Given the description of an element on the screen output the (x, y) to click on. 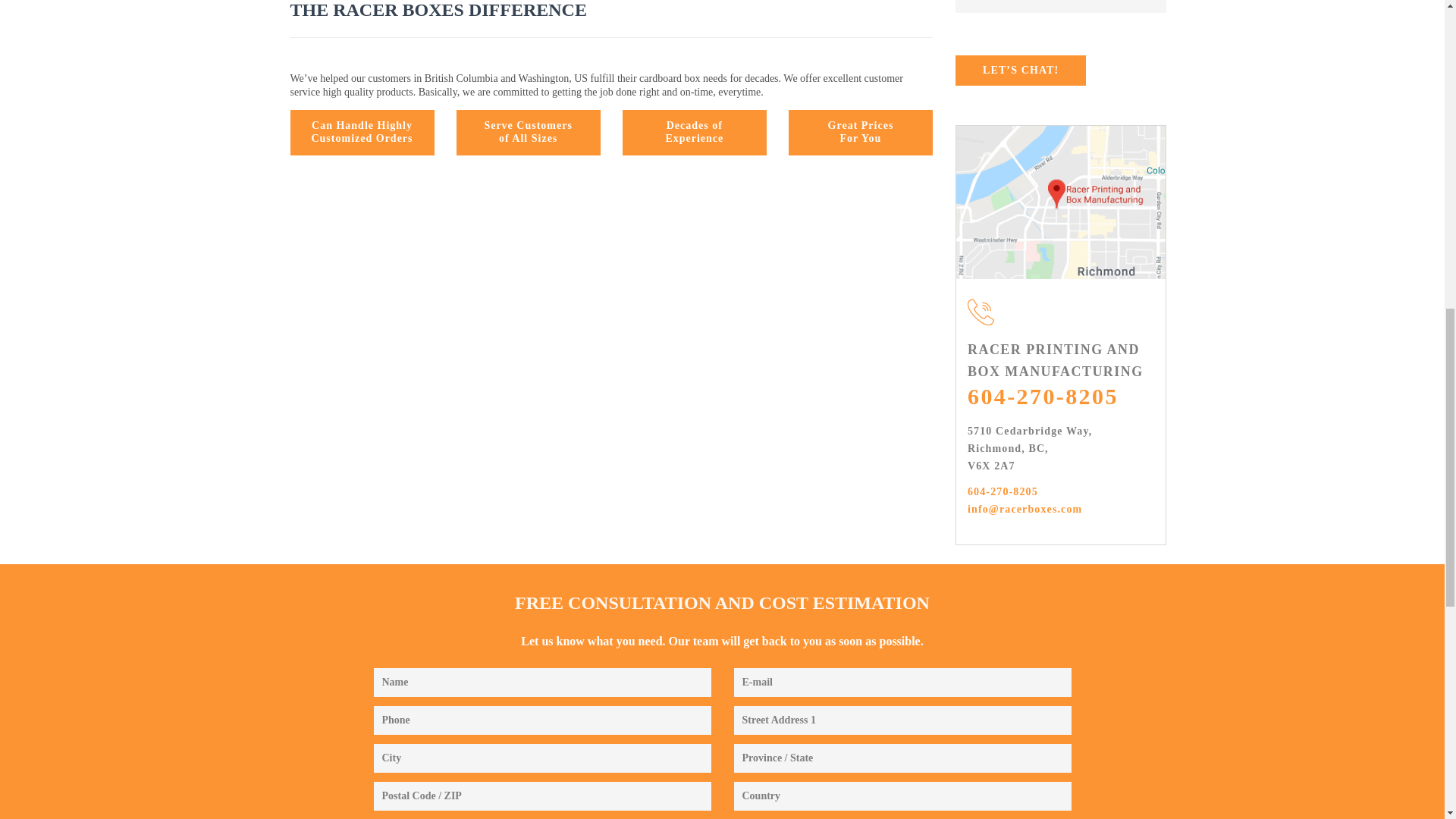
604-270-8205 (1003, 491)
604-270-8205 (861, 132)
